Given the description of an element on the screen output the (x, y) to click on. 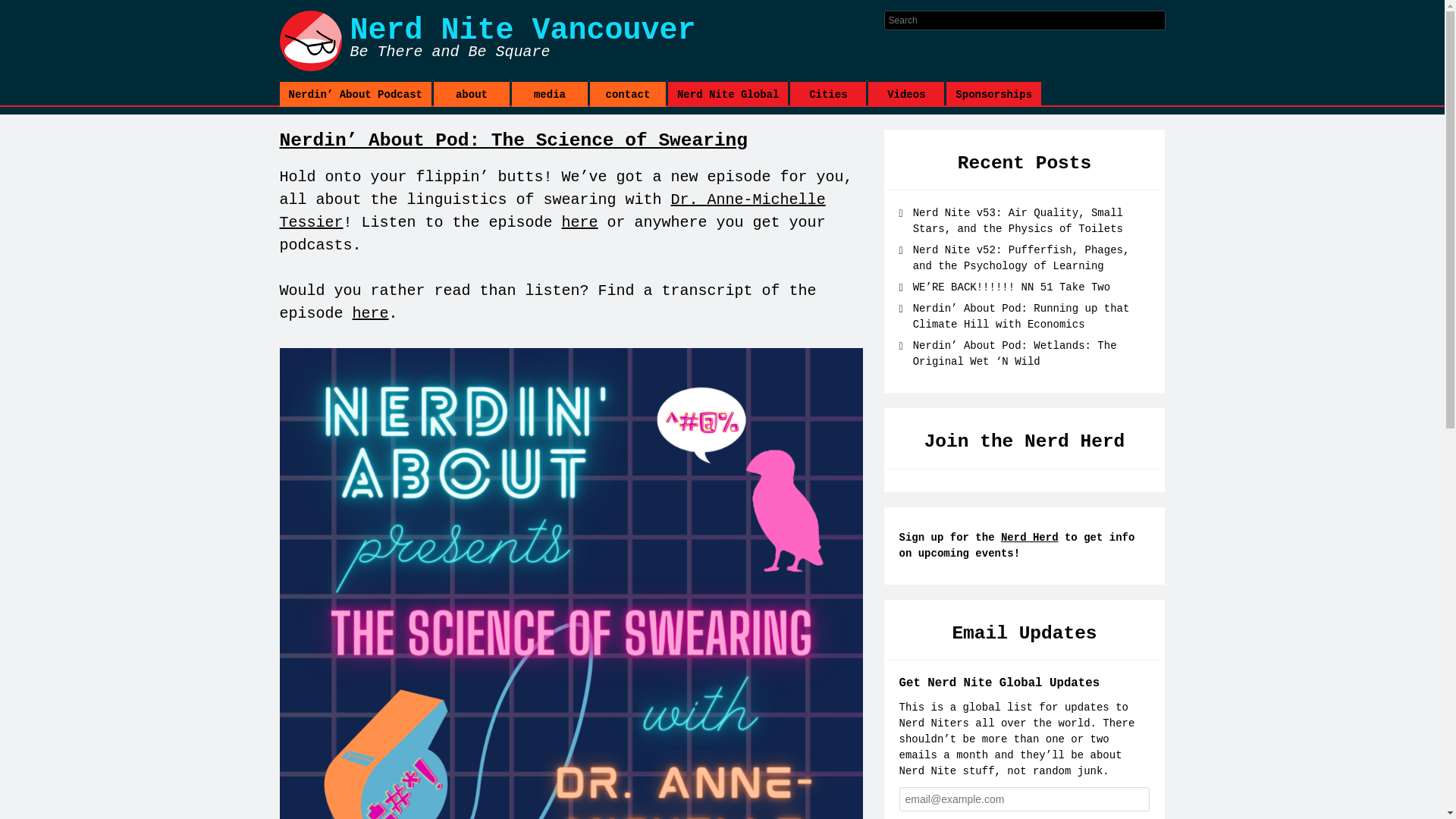
Cities (828, 94)
contact (627, 94)
Videos (905, 94)
media (550, 94)
home (580, 40)
Nerd Nite Global (727, 94)
here (580, 221)
here (370, 313)
